Given the description of an element on the screen output the (x, y) to click on. 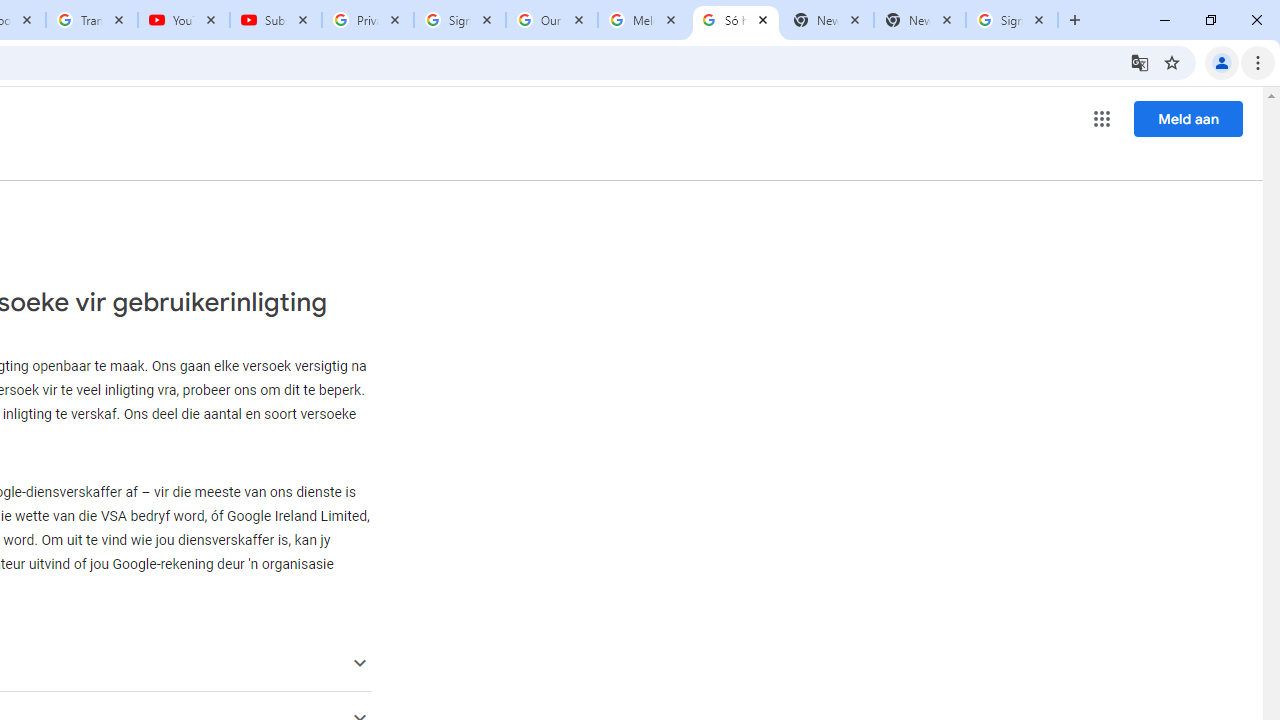
Sign in - Google Accounts (1012, 20)
YouTube (184, 20)
Sign in - Google Accounts (459, 20)
